Given the description of an element on the screen output the (x, y) to click on. 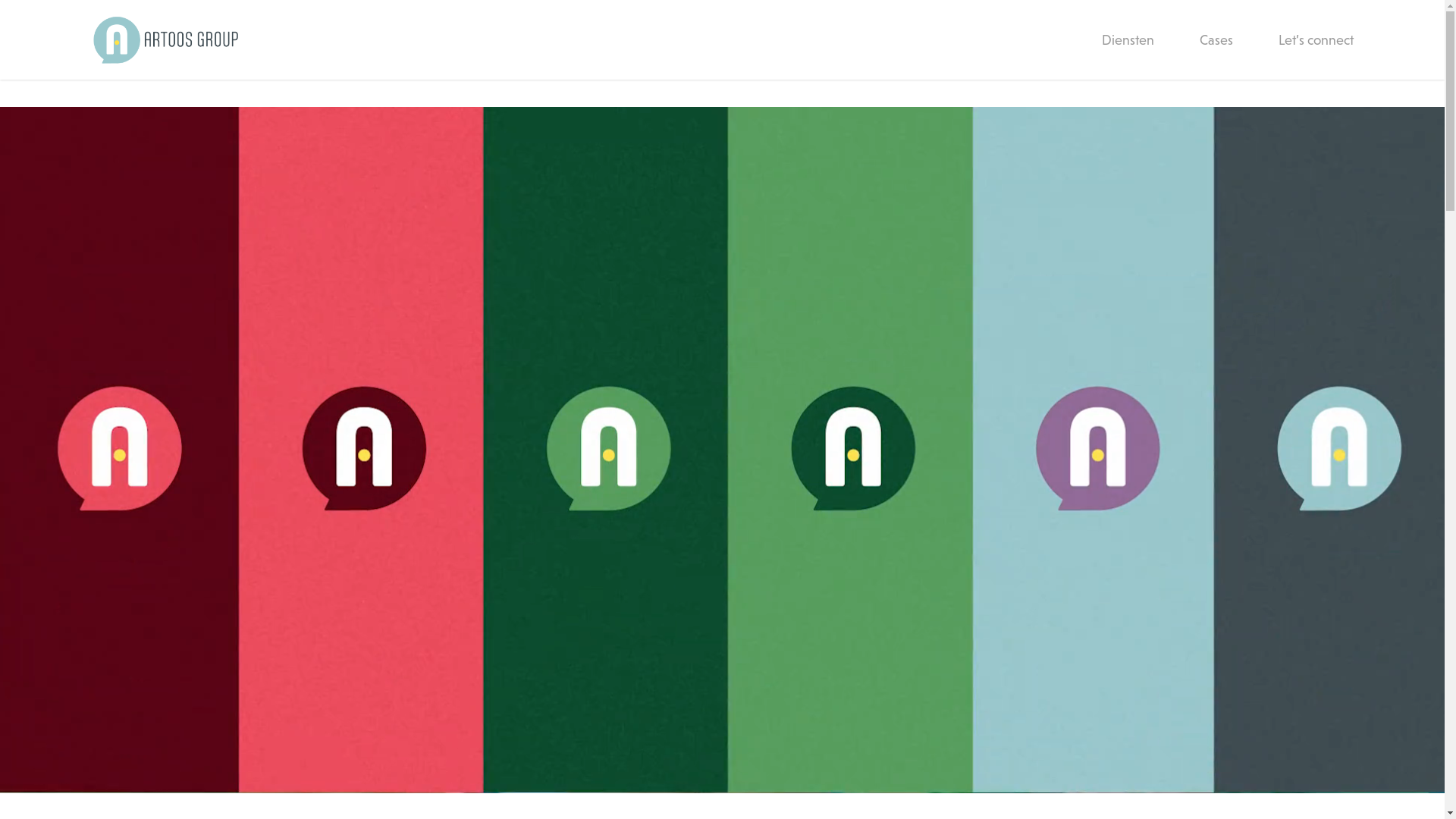
Diensten Element type: text (1127, 39)
Cases Element type: text (1216, 39)
